Given the description of an element on the screen output the (x, y) to click on. 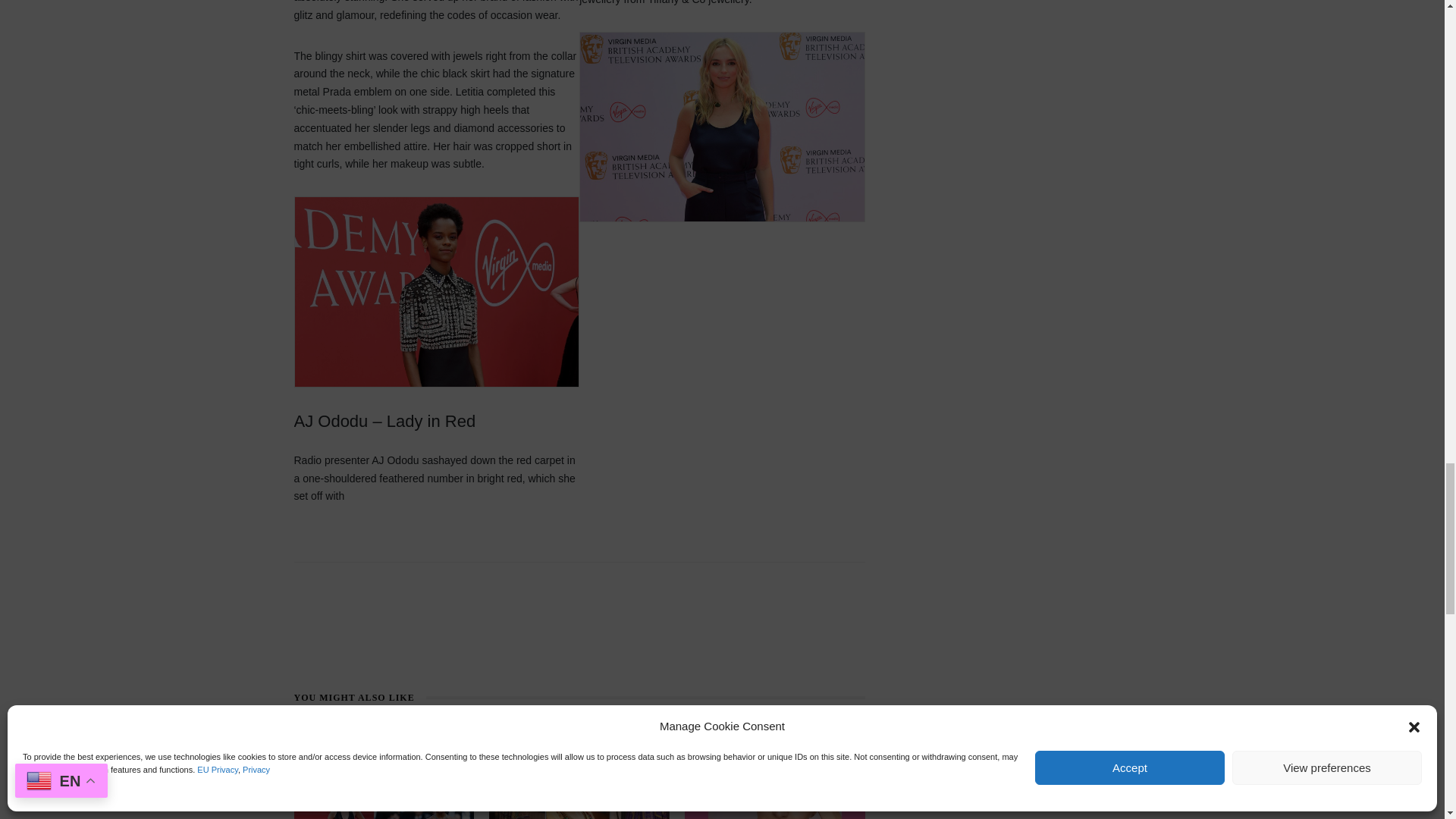
77th Cannes Film Festival (384, 775)
Kiara Advani (774, 775)
Page 3 (774, 790)
